Given the description of an element on the screen output the (x, y) to click on. 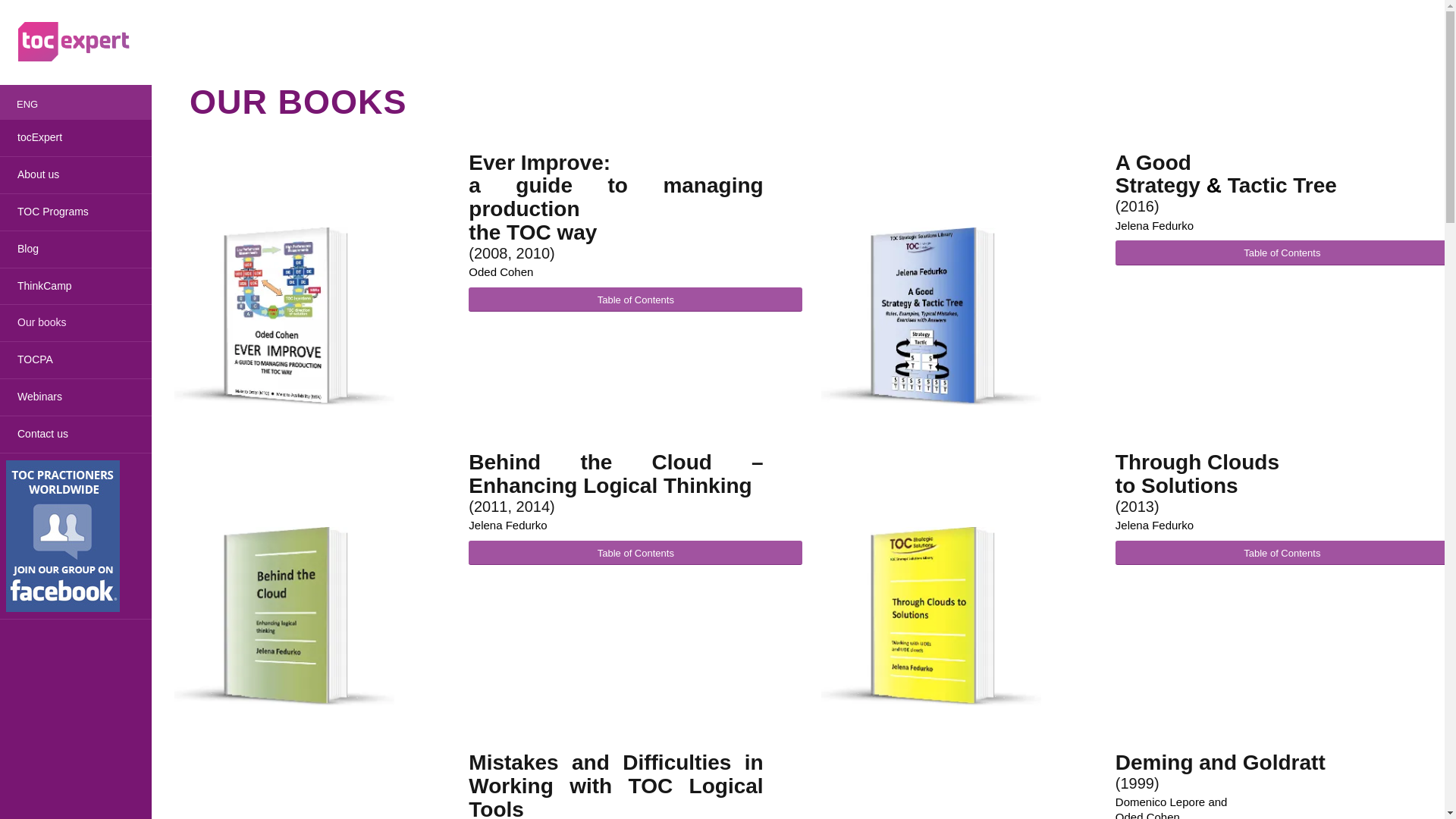
ThinkCamp (75, 286)
Table of Contents (635, 299)
goodstrategy (931, 316)
everimprove (284, 316)
Our books (75, 322)
Table of Contents (635, 552)
TOC Programs (75, 212)
TOCPA (75, 360)
Contact us (75, 434)
tocExpert (75, 137)
behind-the-cloud (284, 616)
Blog (75, 248)
About us (75, 175)
though-clouds-to-solutions (931, 616)
Webinars (75, 397)
